Given the description of an element on the screen output the (x, y) to click on. 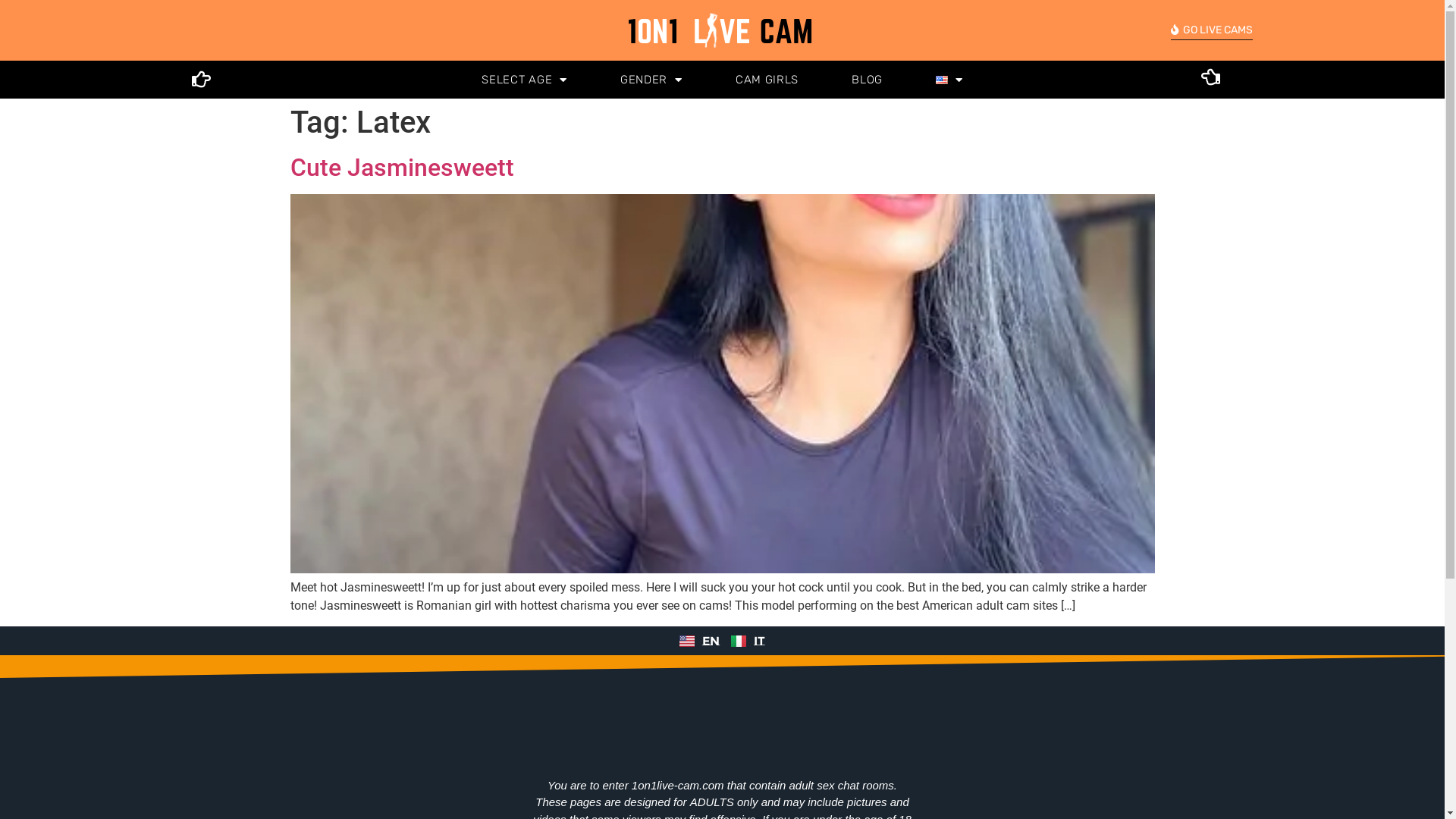
GENDER Element type: text (651, 79)
GO LIVE CAMS Element type: text (1211, 30)
Cute Jasminesweett Element type: text (401, 167)
EN Element type: text (699, 640)
IT Element type: text (748, 640)
CAM GIRLS Element type: text (766, 79)
BLOG Element type: text (866, 79)
SELECT AGE Element type: text (523, 79)
